Given the description of an element on the screen output the (x, y) to click on. 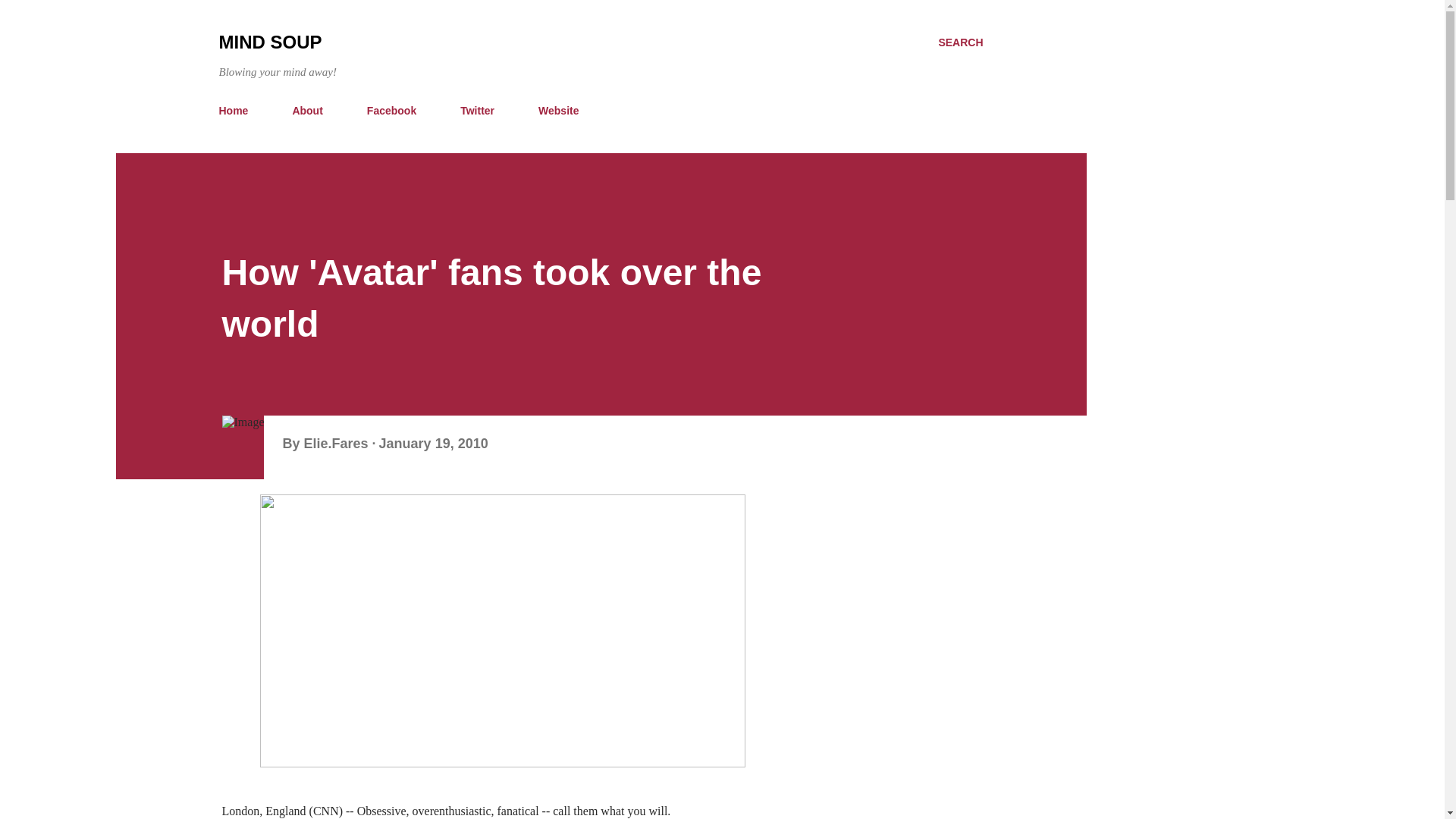
Website (558, 110)
permanent link (432, 442)
Facebook (391, 110)
author profile (336, 442)
Home (237, 110)
SEARCH (959, 42)
About (306, 110)
Twitter (477, 110)
MIND SOUP (269, 41)
January 19, 2010 (432, 442)
